Given the description of an element on the screen output the (x, y) to click on. 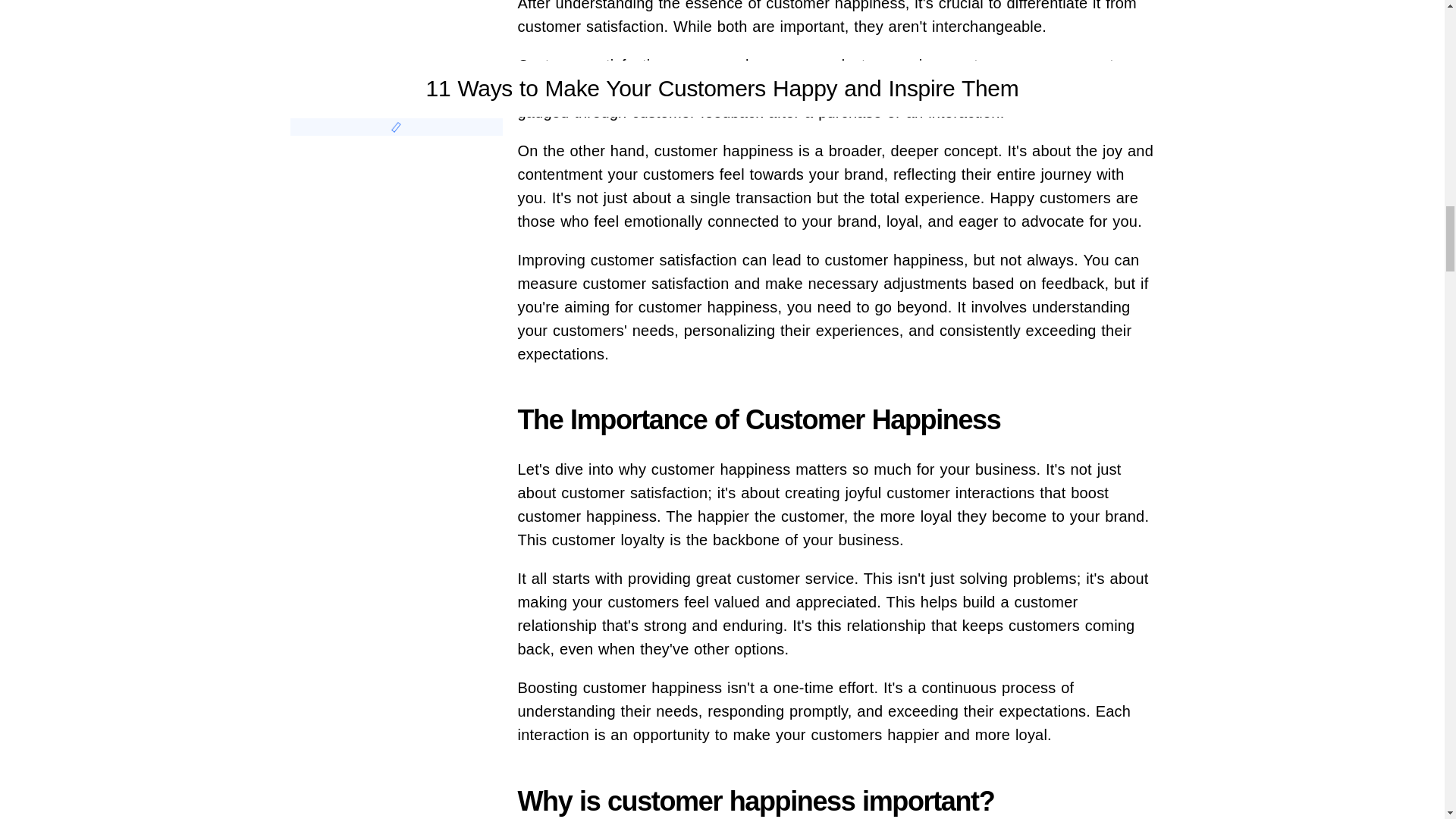
customer feedback (696, 112)
great customer service (774, 578)
customer feedback (696, 112)
great customer service (774, 578)
